Given the description of an element on the screen output the (x, y) to click on. 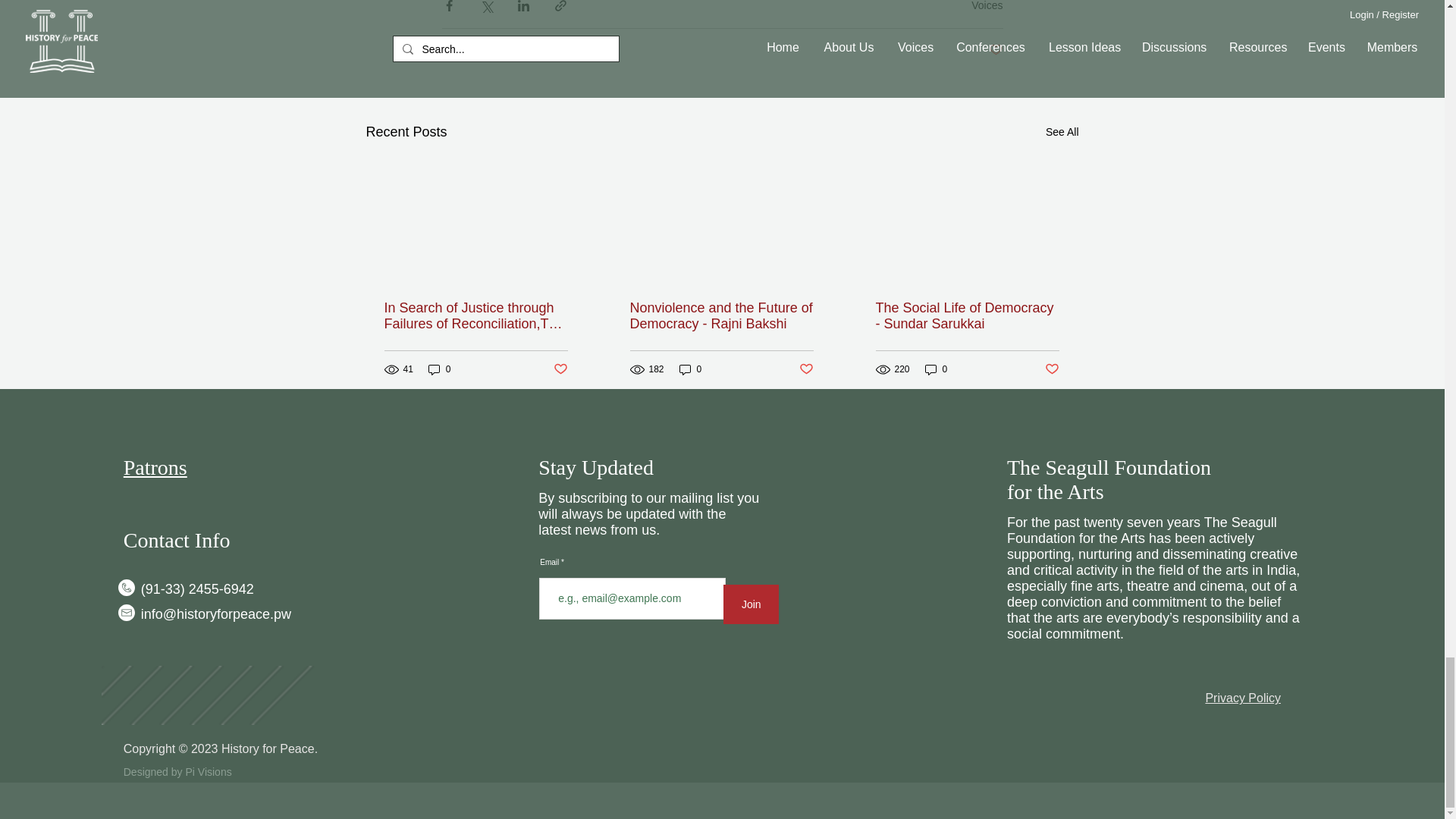
See All (1061, 132)
Nonviolence and the Future of Democracy - Rajni Bakshi (720, 316)
Post not marked as liked (995, 50)
0 (690, 369)
Post not marked as liked (560, 369)
Voices (987, 5)
0 (439, 369)
Post not marked as liked (806, 369)
